Given the description of an element on the screen output the (x, y) to click on. 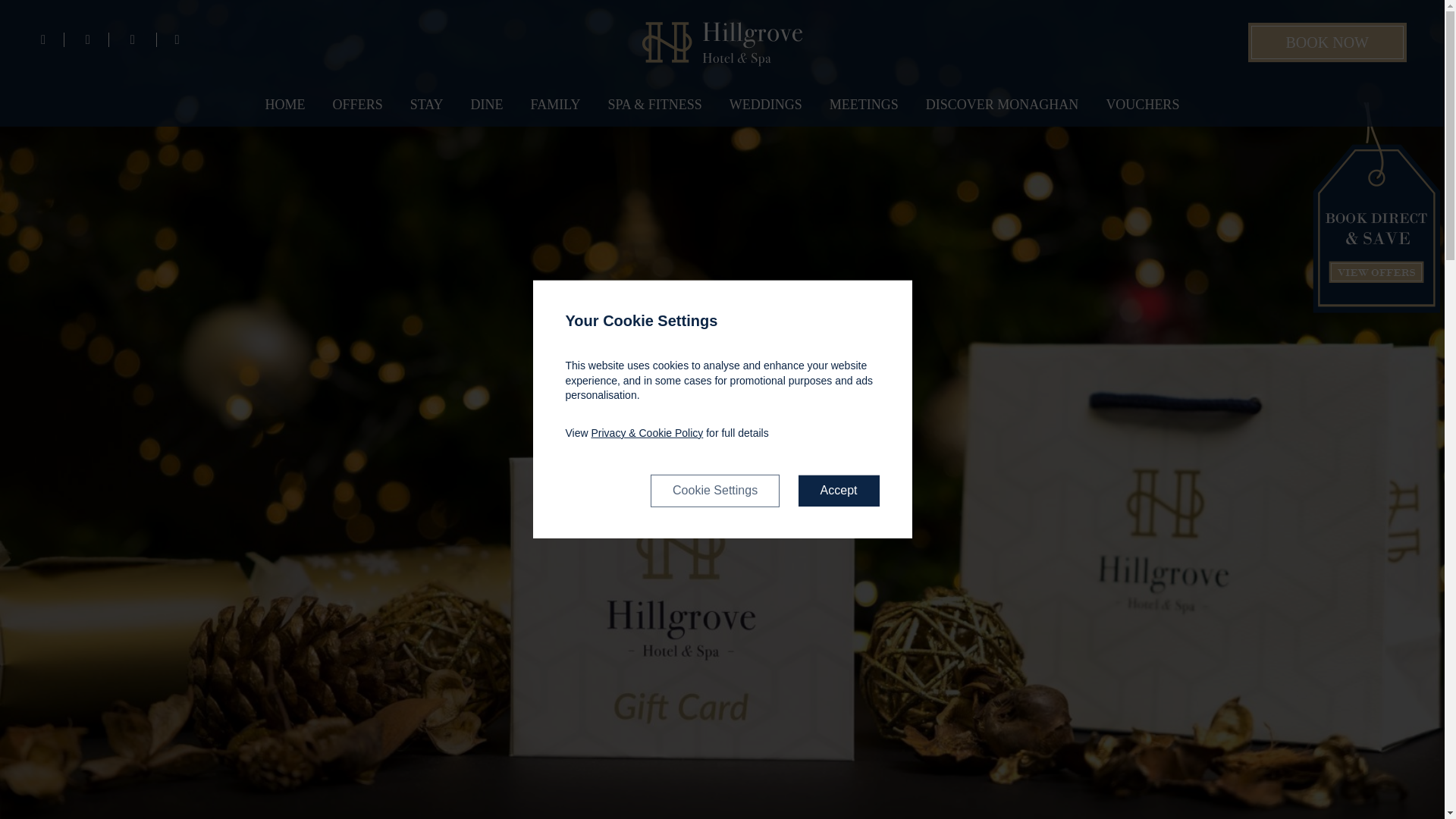
Accept (838, 490)
Cookie Settings (714, 490)
